Given the description of an element on the screen output the (x, y) to click on. 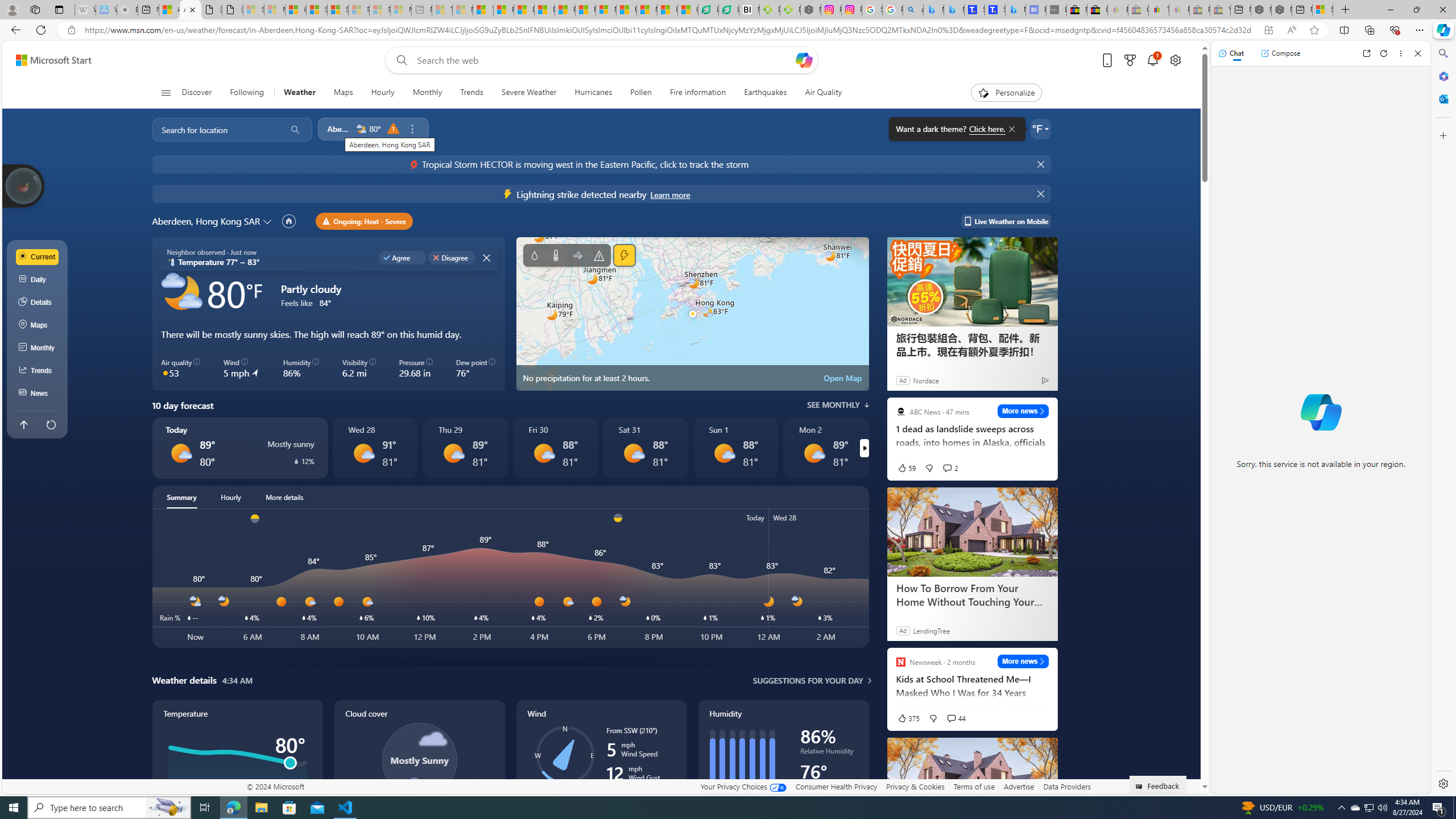
Wikipedia - Sleeping (84, 9)
US Heat Deaths Soared To Record High Last Year (626, 9)
Trends (37, 370)
Agree (402, 257)
Class: feedback_link_icon-DS-EntryPoint1-1 (1140, 786)
Monthly (427, 92)
alabama high school quarterback dies - Search (913, 9)
Threats and offensive language policy | eBay (1158, 9)
Your Privacy Choices (743, 785)
Aberdeen, Hong Kong SAR (205, 220)
